Given the description of an element on the screen output the (x, y) to click on. 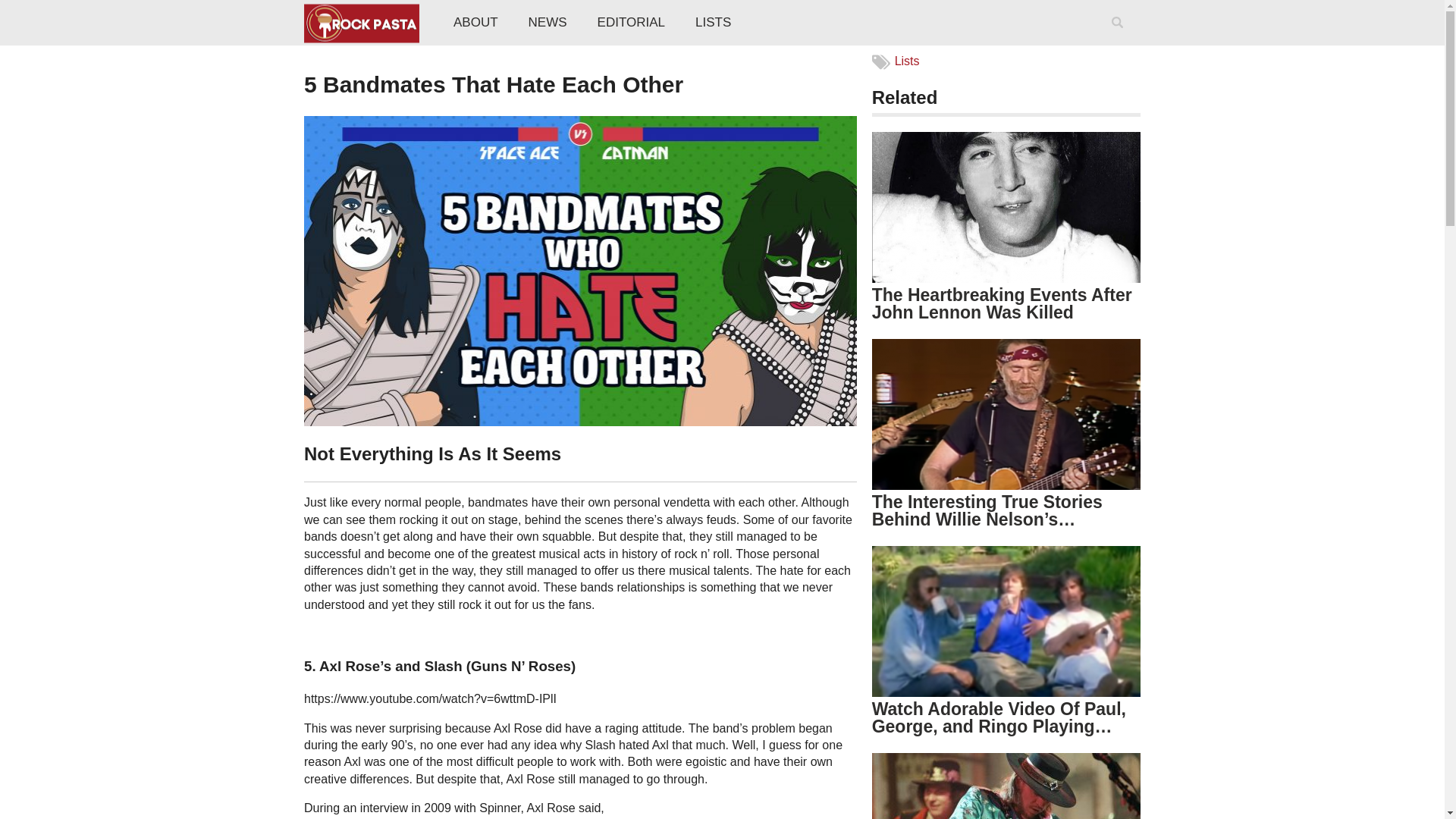
EDITORIAL (630, 22)
NEWS (547, 22)
ABOUT (475, 22)
LISTS (712, 22)
Lists (907, 60)
Search (1120, 42)
Search (1120, 42)
The Heartbreaking Events After John Lennon Was Killed (1002, 303)
Search (1120, 42)
